Given the description of an element on the screen output the (x, y) to click on. 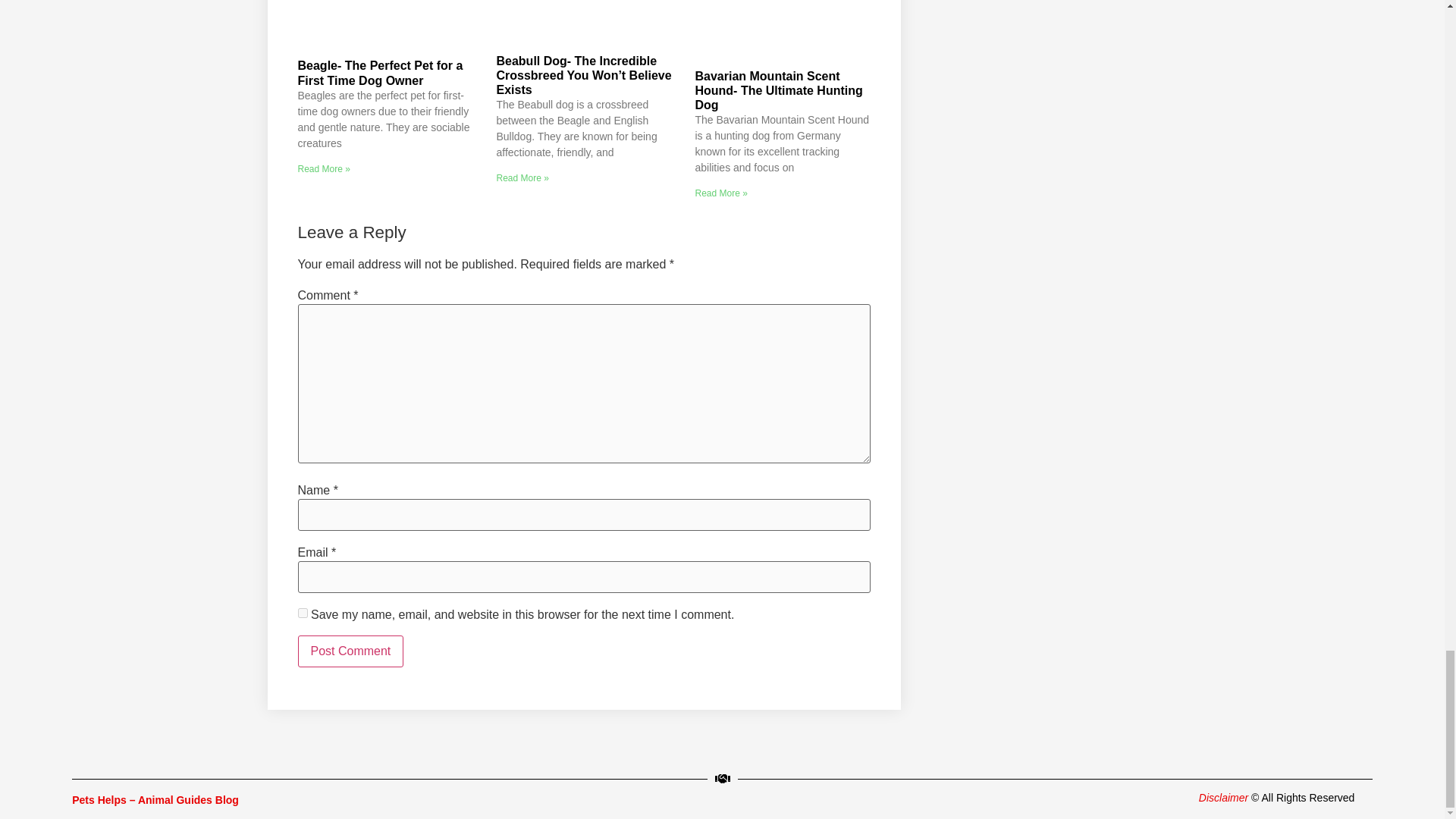
yes (302, 613)
Post Comment (350, 651)
Beagle- The Perfect Pet for a First Time Dog Owner (380, 72)
